Given the description of an element on the screen output the (x, y) to click on. 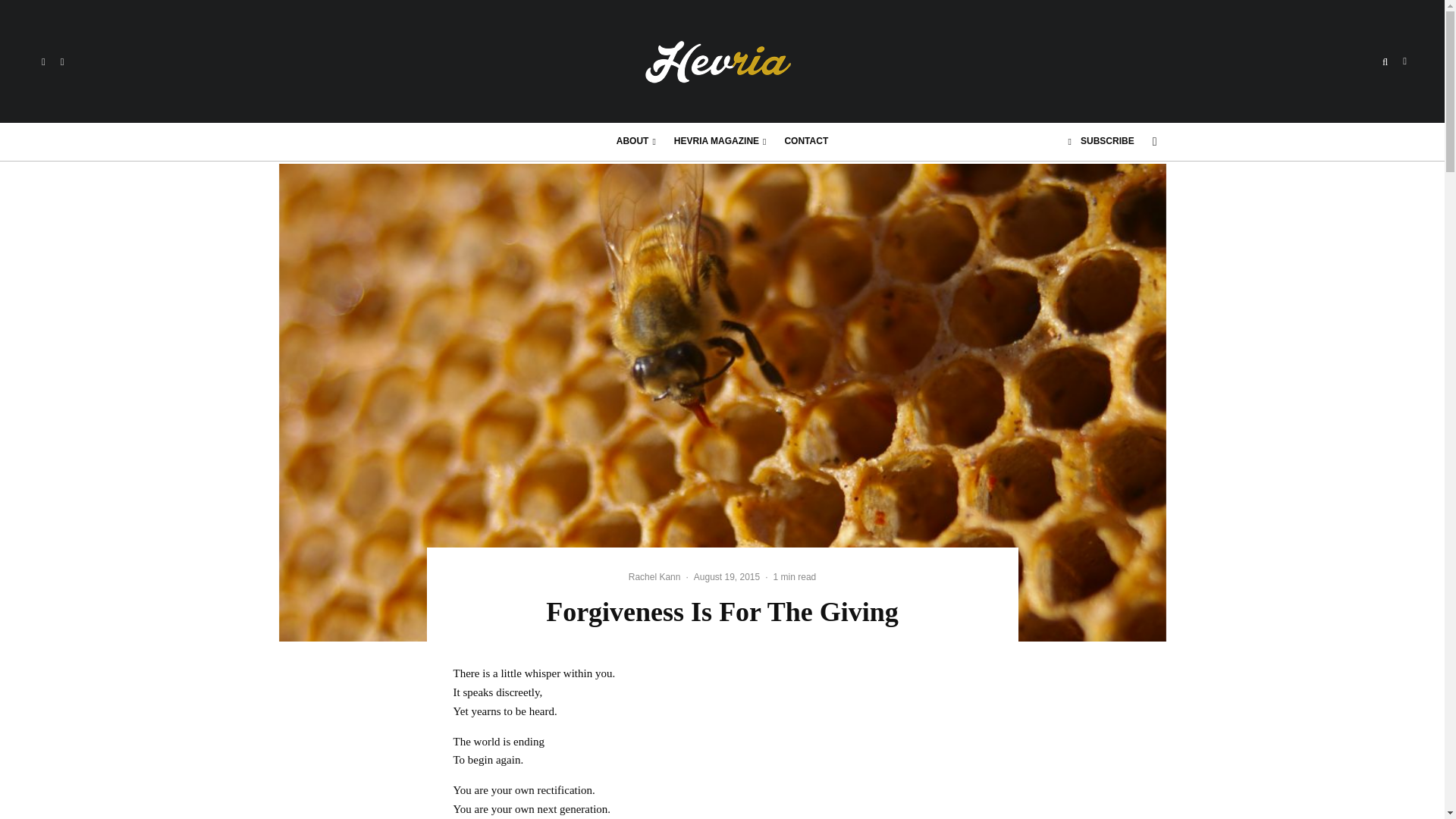
ABOUT (636, 141)
Rachel Kann (654, 576)
HEVRIA MAGAZINE (720, 141)
CONTACT (805, 141)
SUBSCRIBE (1100, 141)
